Given the description of an element on the screen output the (x, y) to click on. 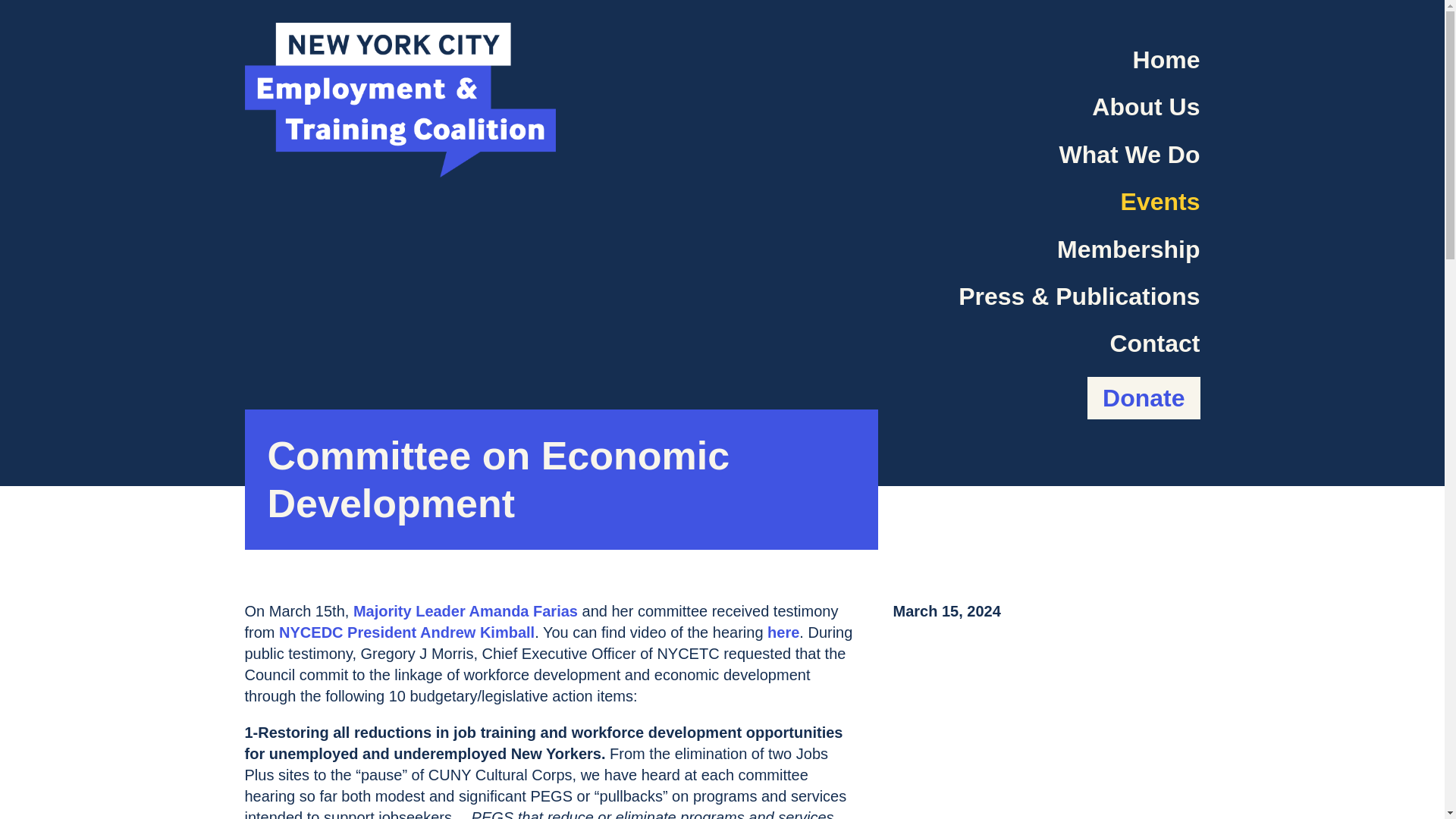
Membership (1128, 249)
Home (1165, 59)
About Us (1145, 106)
here (783, 632)
Donate (1143, 397)
Events (1160, 201)
NYCEDC President Andrew Kimball (406, 632)
Contact (1154, 343)
What We Do (1128, 154)
Majority Leader Amanda Farias (465, 610)
